Given the description of an element on the screen output the (x, y) to click on. 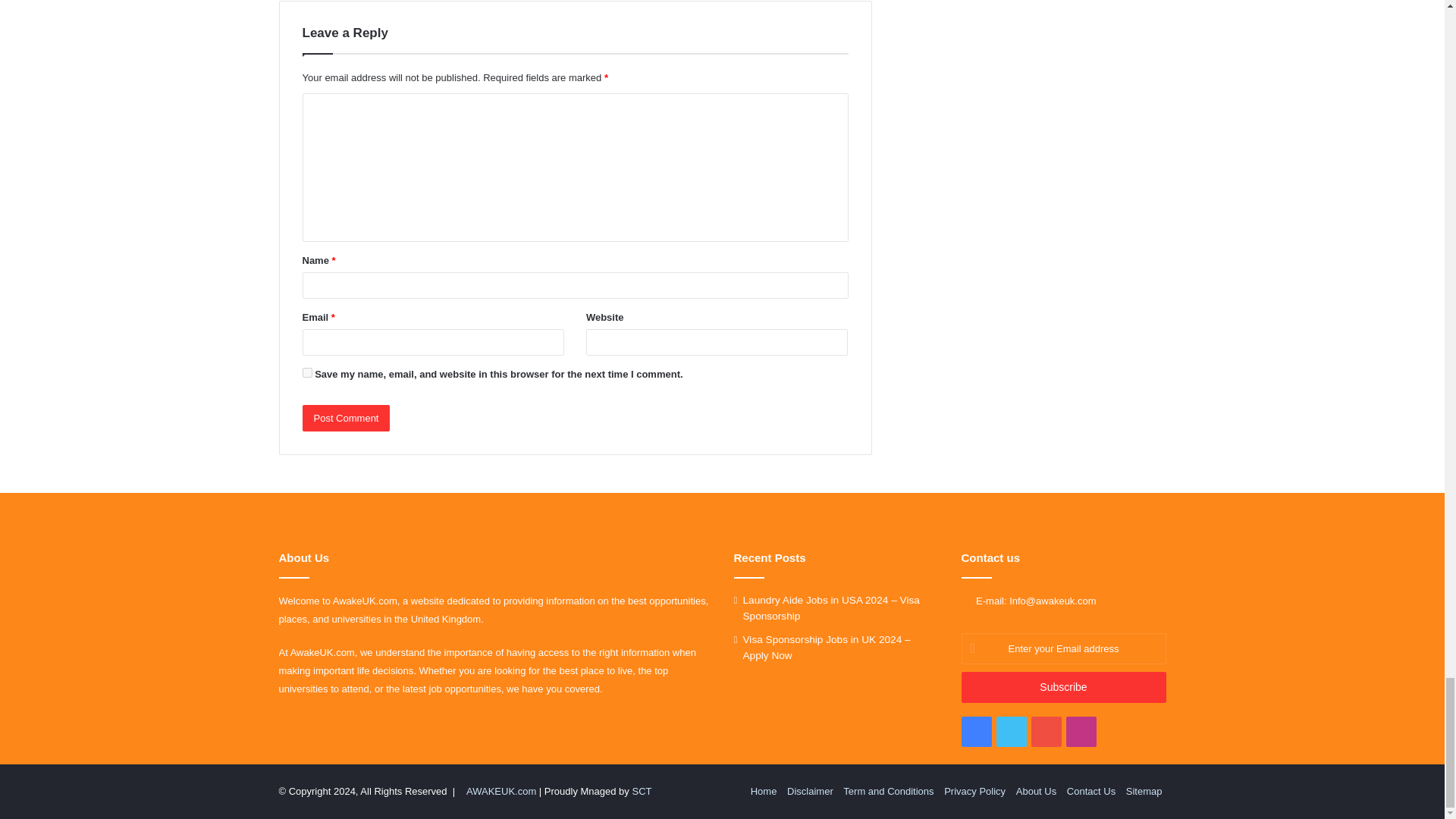
Post Comment (345, 417)
yes (306, 372)
Subscribe (1063, 686)
